Given the description of an element on the screen output the (x, y) to click on. 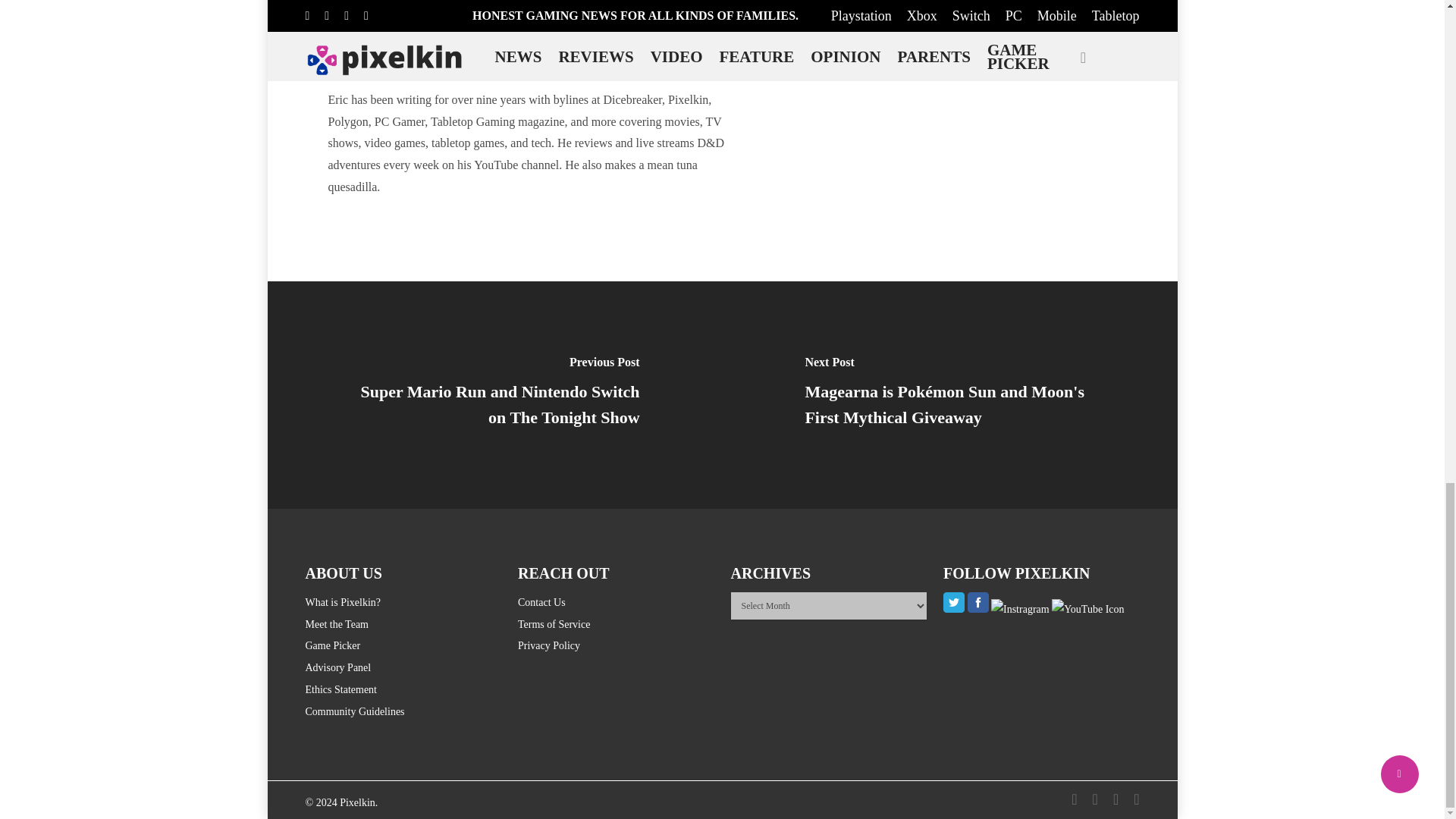
Posts by Eric Watson (522, 70)
